Given the description of an element on the screen output the (x, y) to click on. 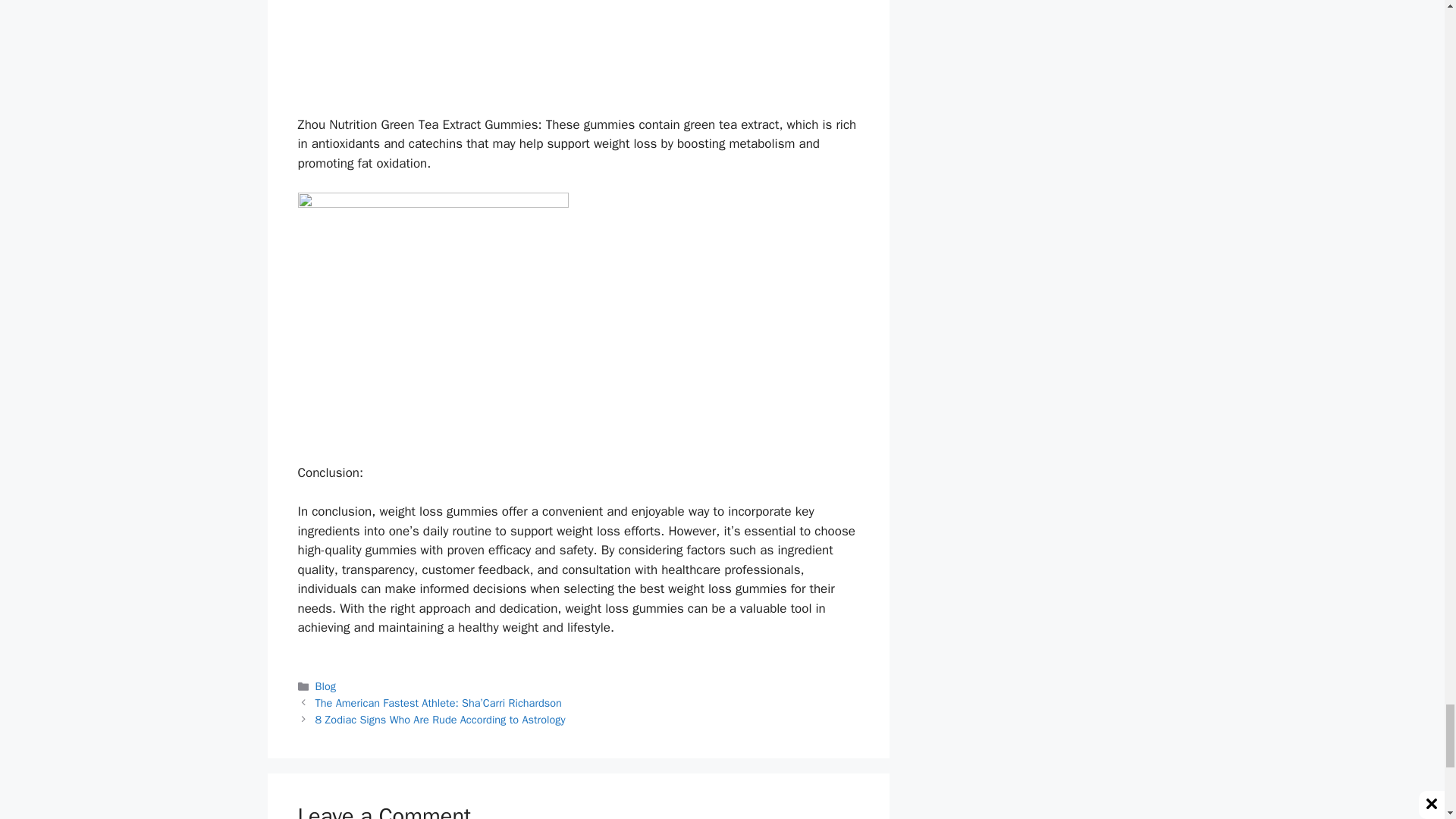
Blog (325, 685)
8 Zodiac Signs Who Are Rude According to Astrology (440, 719)
